Given the description of an element on the screen output the (x, y) to click on. 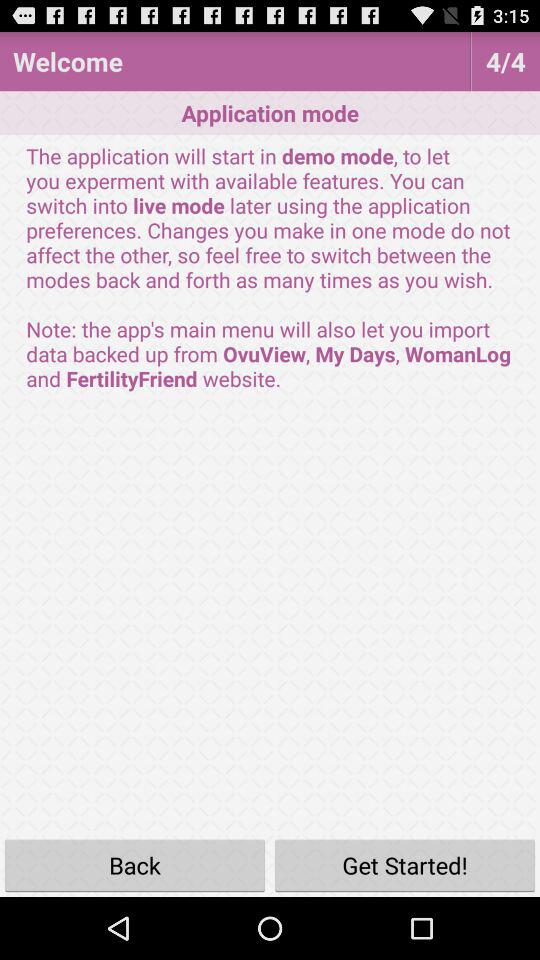
open the item to the left of get started! item (135, 864)
